Given the description of an element on the screen output the (x, y) to click on. 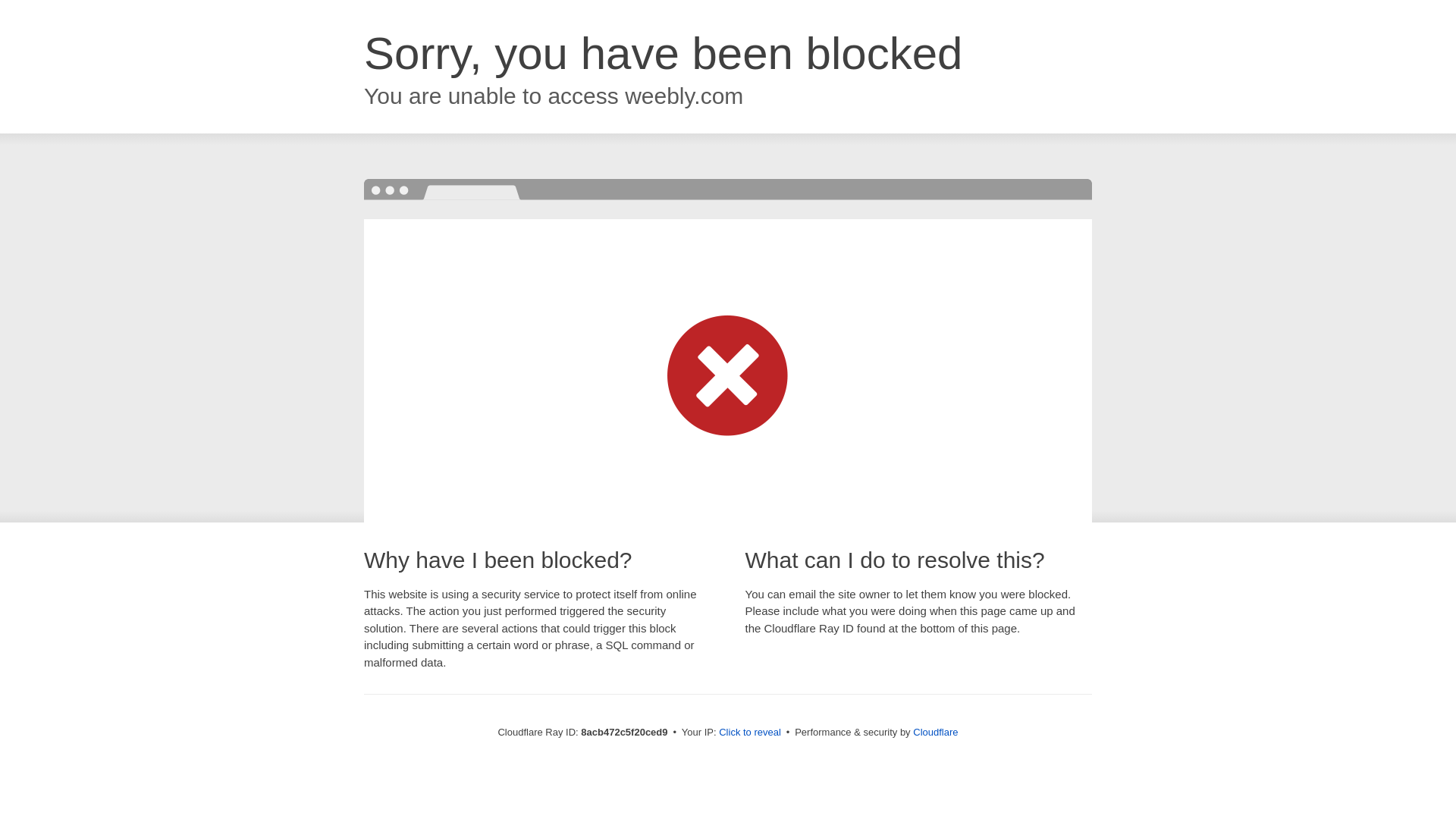
Click to reveal (749, 732)
Cloudflare (935, 731)
